Given the description of an element on the screen output the (x, y) to click on. 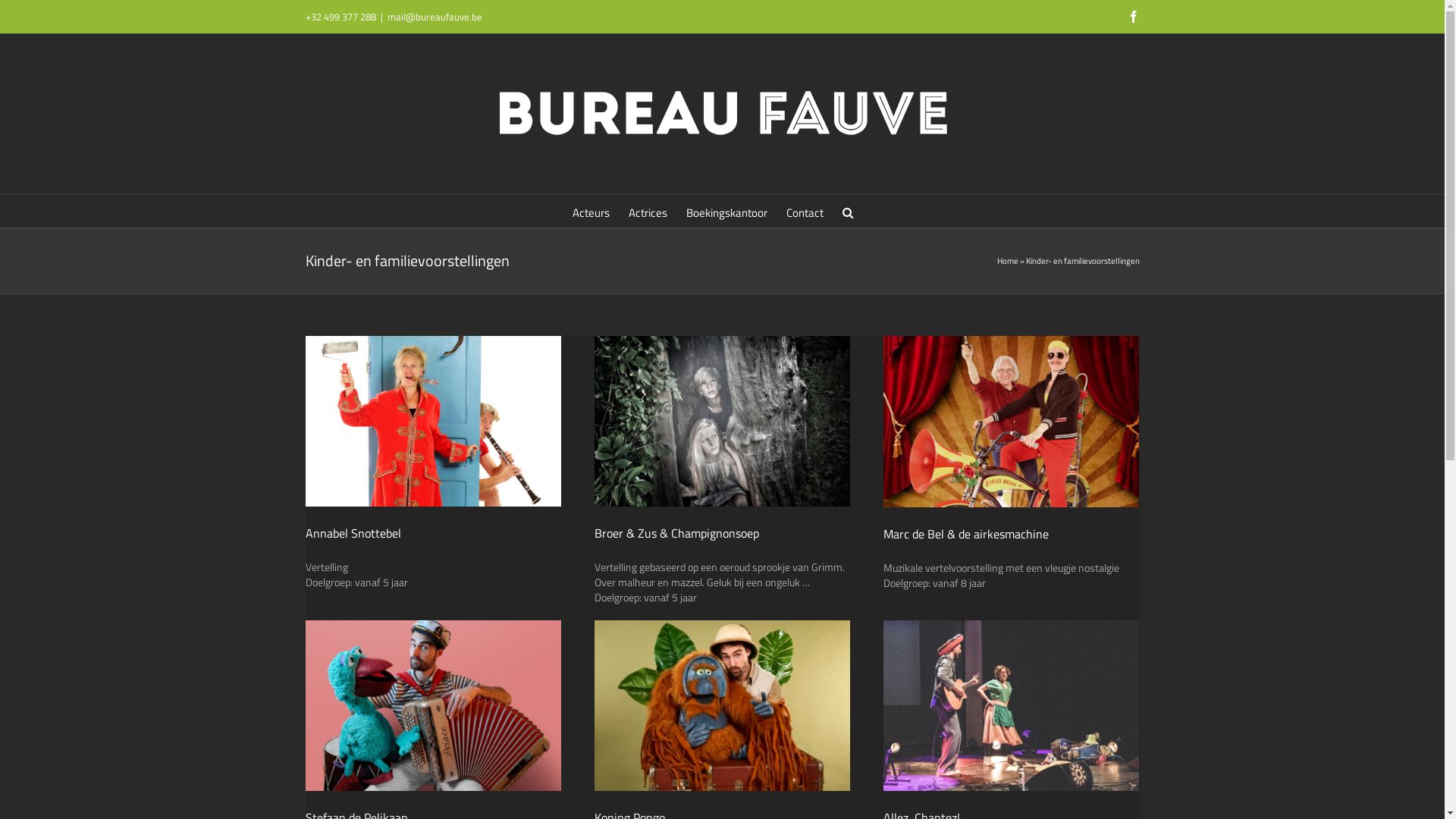
Actrices Element type: text (647, 210)
Contact Element type: text (804, 210)
Zoeken Element type: hover (847, 210)
mail@bureaufauve.be Element type: text (433, 16)
Boekingskantoor Element type: text (726, 210)
Home Element type: text (1006, 260)
Facebook Element type: text (1132, 16)
Acteurs Element type: text (590, 210)
